Given the description of an element on the screen output the (x, y) to click on. 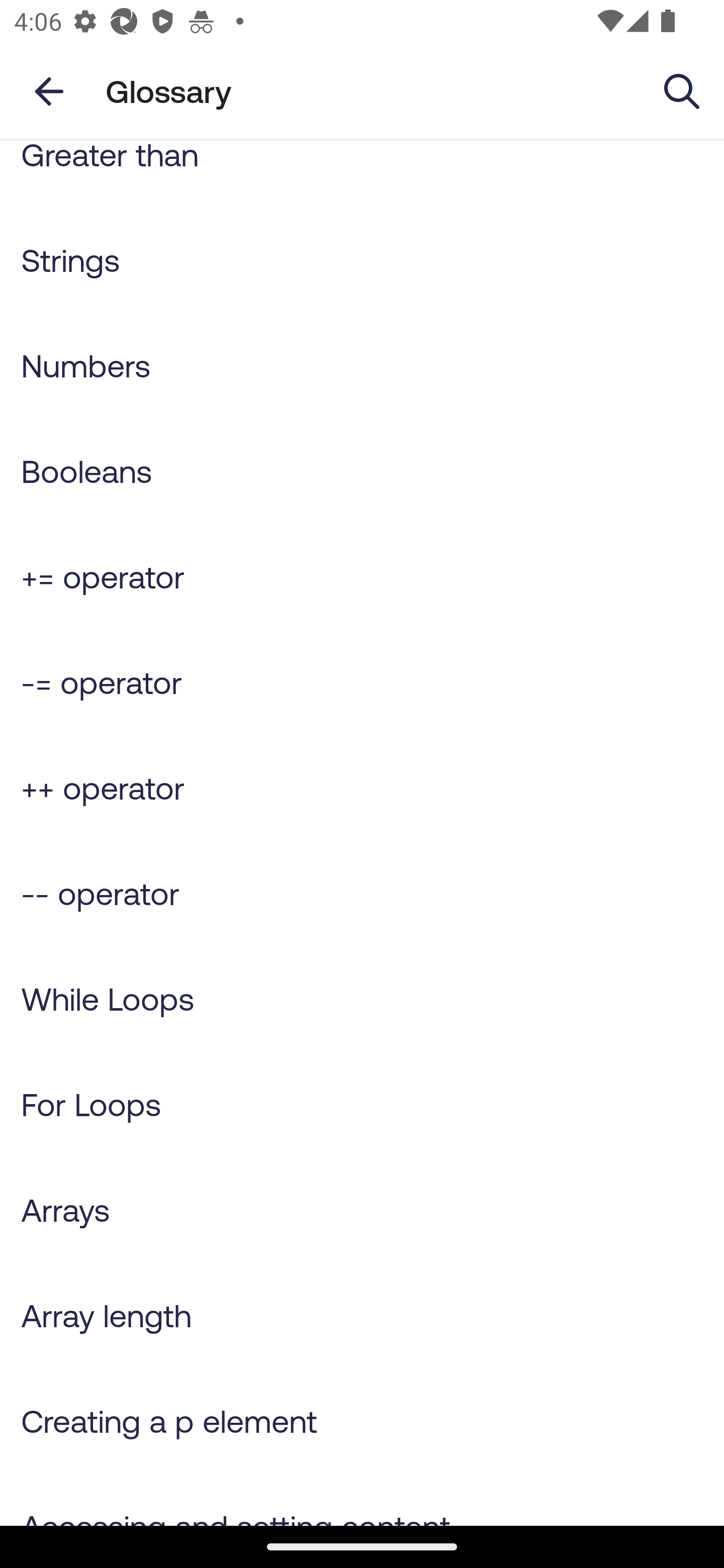
Navigate up (49, 91)
Search Glossary (681, 90)
Greater than (362, 173)
Strings  (362, 259)
Numbers  (362, 365)
Booleans  (362, 470)
+= operator (362, 575)
-= operator (362, 681)
++ operator (362, 787)
-- operator (362, 892)
While Loops (362, 998)
For Loops (362, 1104)
Arrays (362, 1209)
Array length (362, 1314)
Creating a p element (362, 1420)
